Given the description of an element on the screen output the (x, y) to click on. 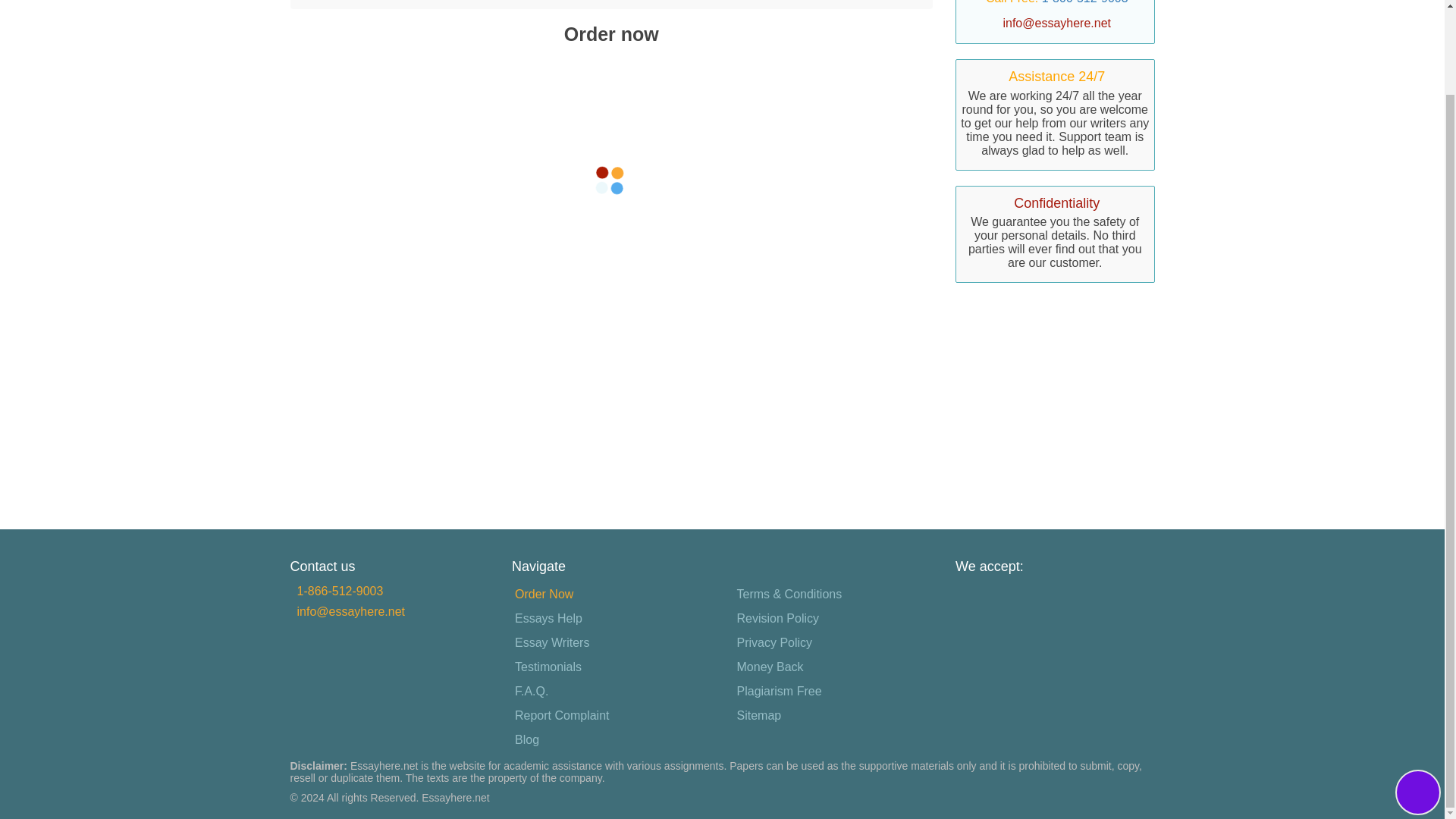
Sitemap (758, 715)
Home (317, 1)
Revision Policy (777, 618)
Testimonials (548, 667)
Order Now (381, 1)
Money Back (769, 667)
Essays Help (548, 618)
Essay Writers (552, 642)
Report Complaint (562, 715)
Privacy Policy (774, 642)
